Given the description of an element on the screen output the (x, y) to click on. 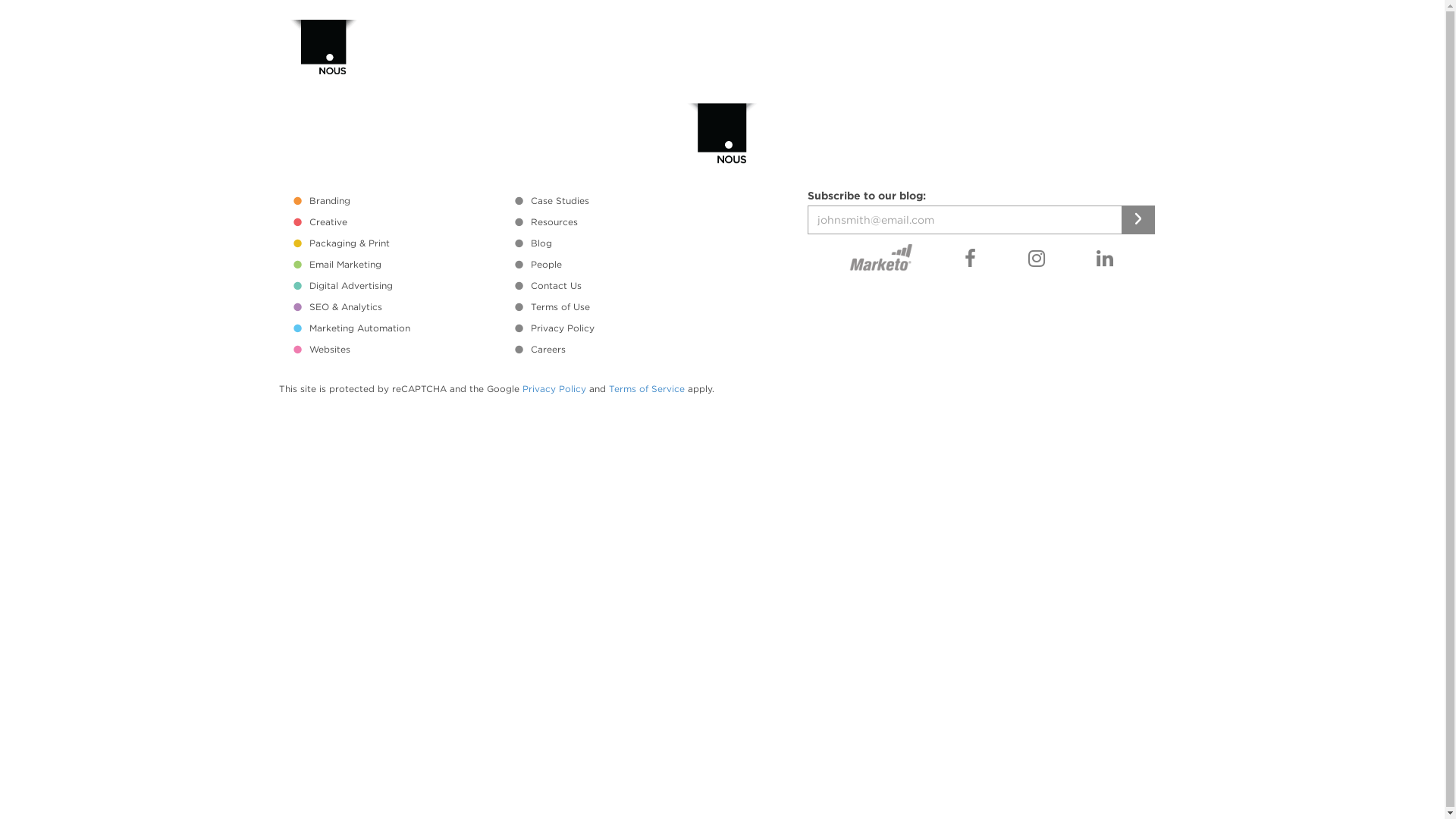
Terms of Use Element type: text (620, 305)
PEOPLE Element type: text (1010, 51)
Digital Advertising Element type: text (399, 284)
CONTACT US Element type: text (1096, 51)
CASE STUDIES Element type: text (761, 51)
SEO & Analytics Element type: text (399, 305)
Websites Element type: text (399, 348)
Email Marketing Element type: text (399, 263)
Contact Us Element type: text (620, 284)
Blog Element type: text (620, 242)
BLOG Element type: text (941, 51)
SERVICES Element type: text (664, 51)
Branding Element type: text (399, 199)
Creative Element type: text (399, 221)
Packaging & Print Element type: text (399, 242)
Privacy Policy Element type: text (553, 388)
RESOURCES Element type: text (863, 51)
Terms of Service Element type: text (646, 388)
Privacy Policy Element type: text (620, 327)
Resources Element type: text (620, 221)
People Element type: text (620, 263)
Careers Element type: text (620, 348)
Case Studies Element type: text (620, 199)
Marketing Automation Element type: text (399, 327)
